Given the description of an element on the screen output the (x, y) to click on. 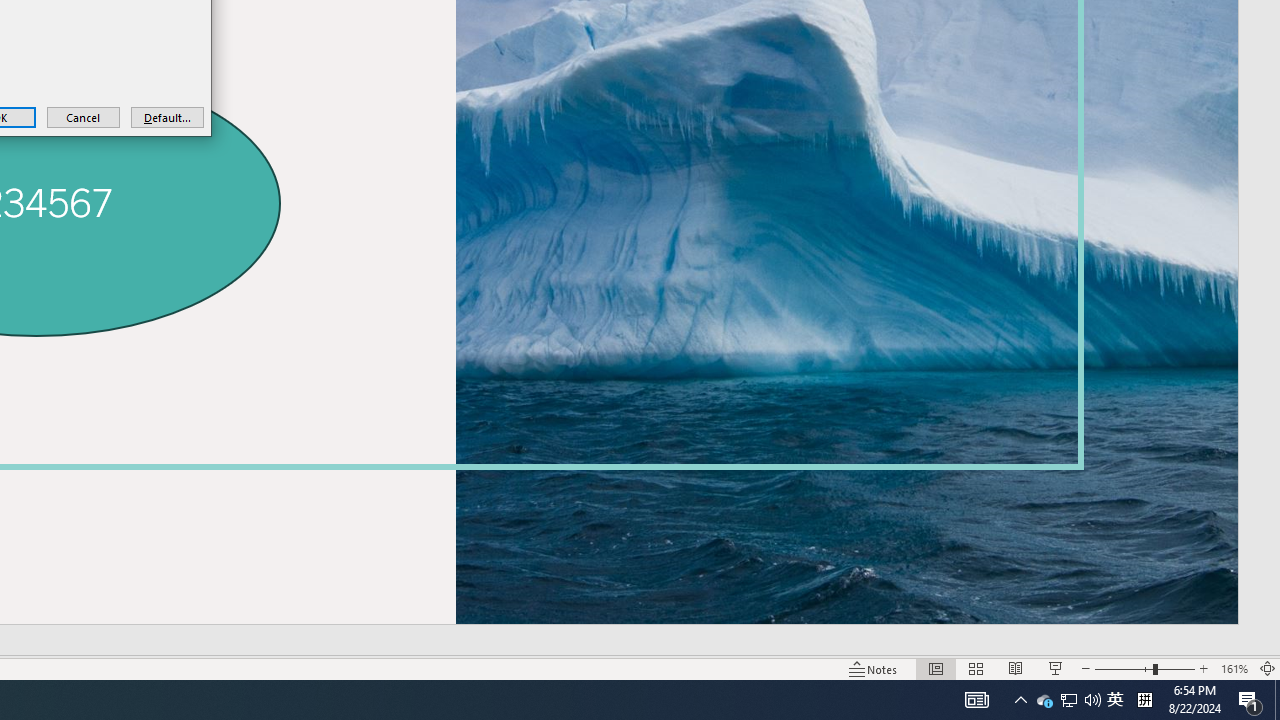
Zoom 161% (1234, 668)
Default... (167, 116)
